Given the description of an element on the screen output the (x, y) to click on. 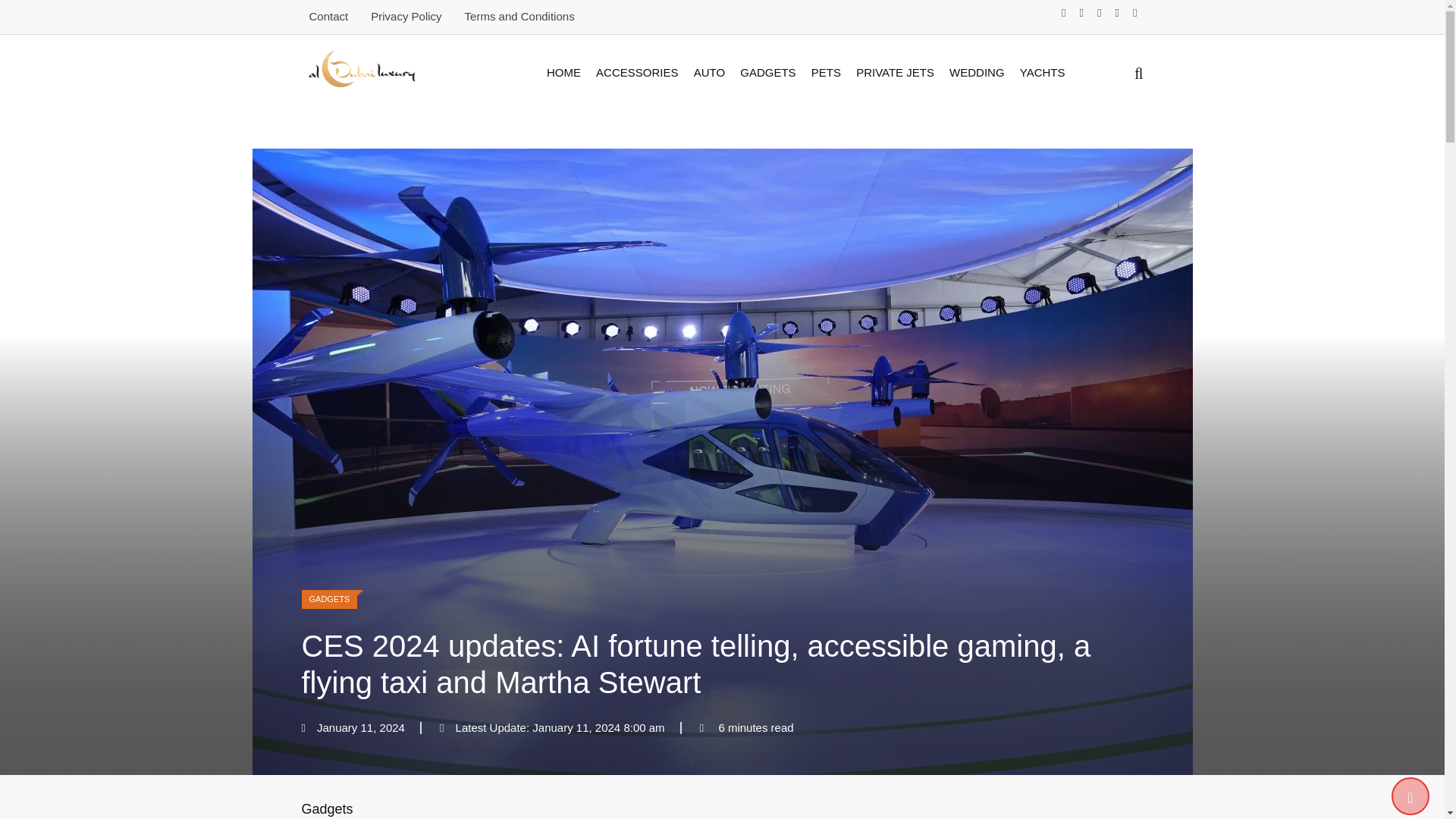
Privacy Policy (406, 15)
GADGETS (767, 72)
WEDDING (976, 72)
PRIVATE JETS (895, 72)
Contact (328, 15)
Terms and Conditions (519, 15)
ACCESSORIES (636, 72)
